Given the description of an element on the screen output the (x, y) to click on. 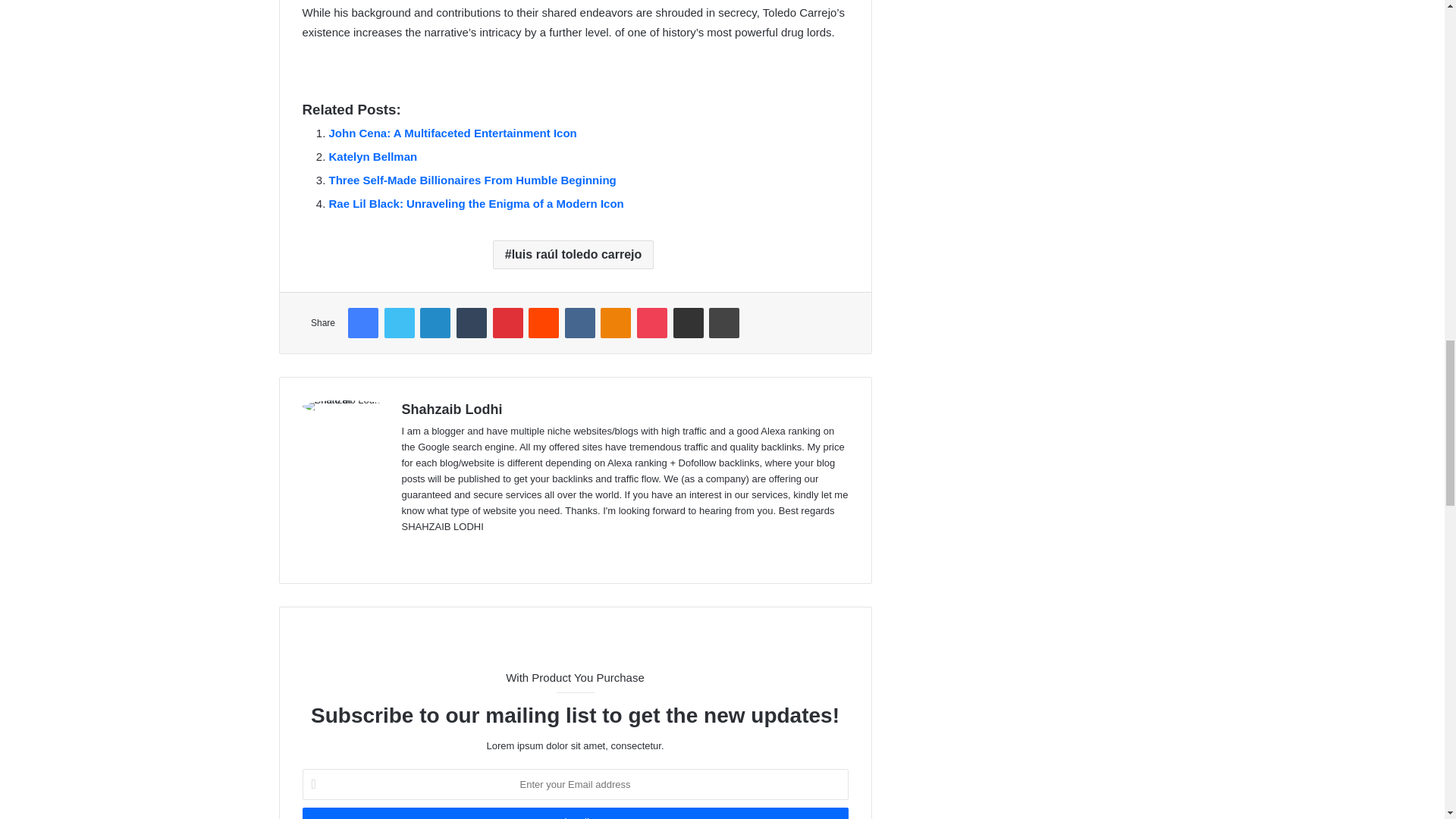
Subscribe (574, 813)
Rae Lil Black: Unraveling the Enigma of a Modern Icon (476, 203)
Katelyn Bellman (373, 155)
Katelyn Bellman (373, 155)
Three Self-Made Billionaires From Humble Beginning (472, 179)
John Cena: A Multifaceted Entertainment Icon (452, 132)
John Cena: A Multifaceted Entertainment Icon (452, 132)
